Given the description of an element on the screen output the (x, y) to click on. 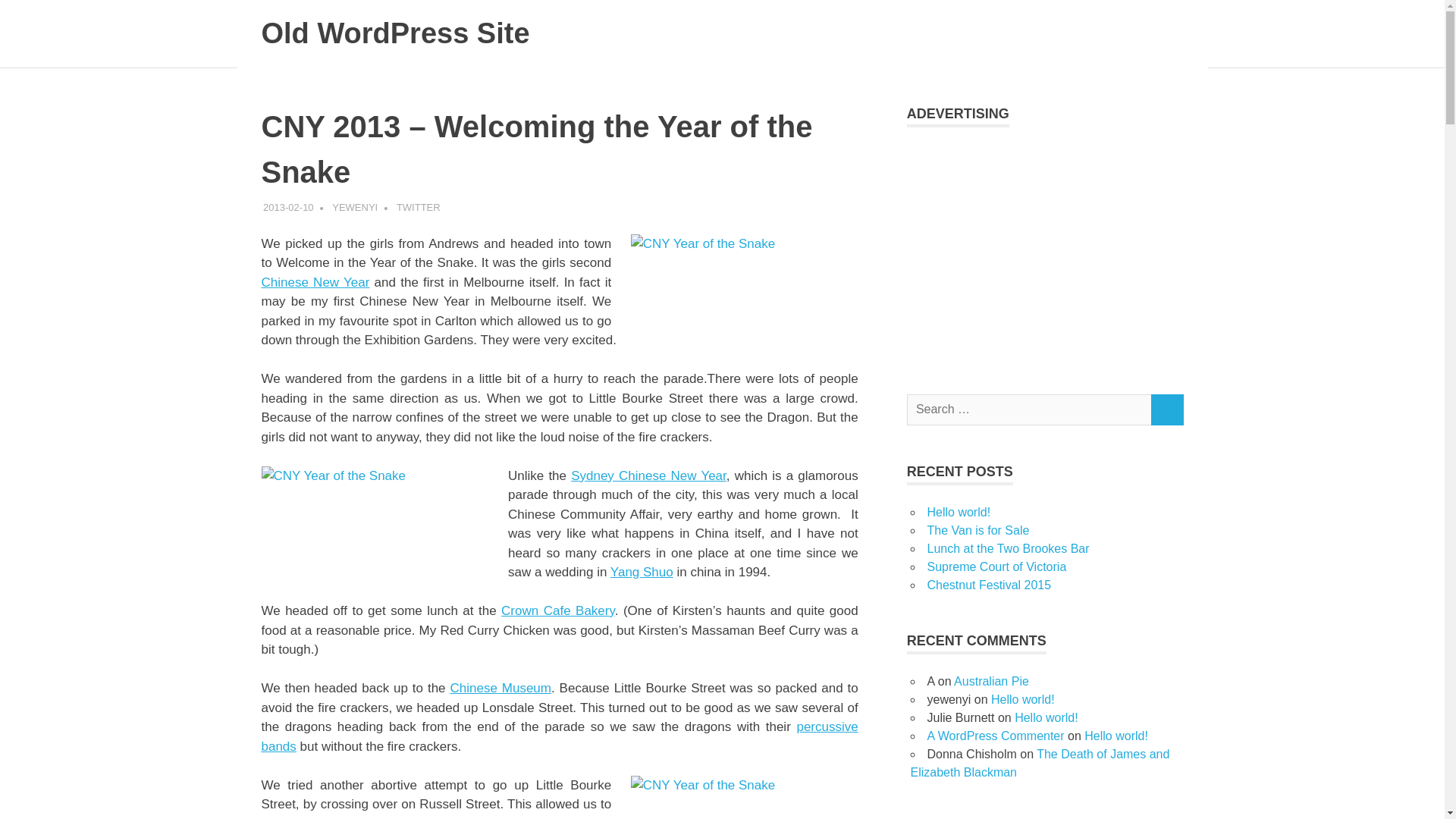
YEWENYI (354, 206)
Chinese Museum (500, 687)
percussive bands (558, 736)
23:29 (288, 206)
Crown Cafe Bakery (557, 610)
Search for: (1029, 409)
View all posts by yewenyi (354, 206)
Yang Shuo (641, 572)
Chinese New Year (314, 281)
2013-02-10 (288, 206)
